Given the description of an element on the screen output the (x, y) to click on. 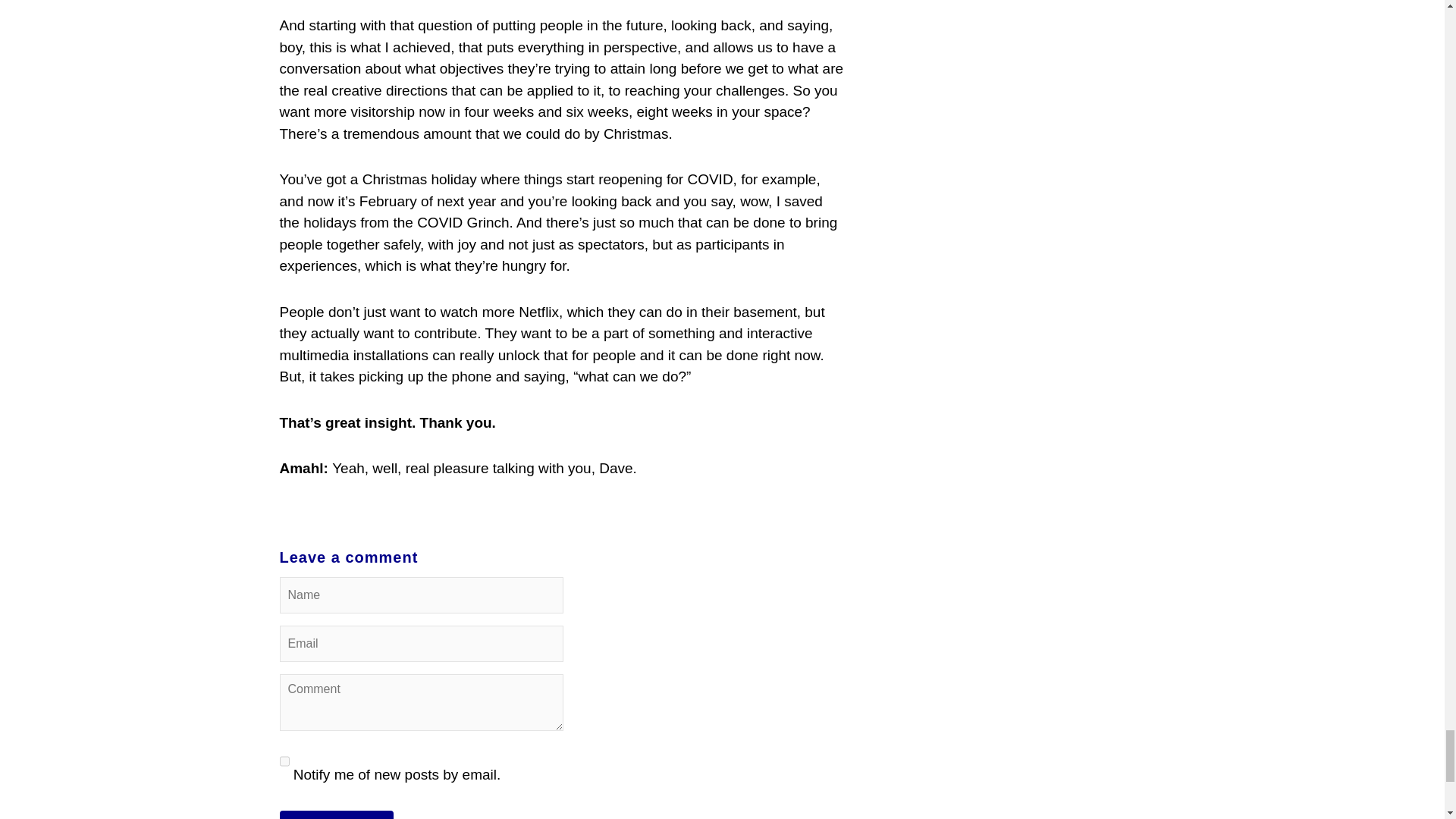
Post Comment (336, 426)
Spectrio (352, 593)
A SPECTRIO COMPANY (721, 732)
Post Comment (336, 426)
